Given the description of an element on the screen output the (x, y) to click on. 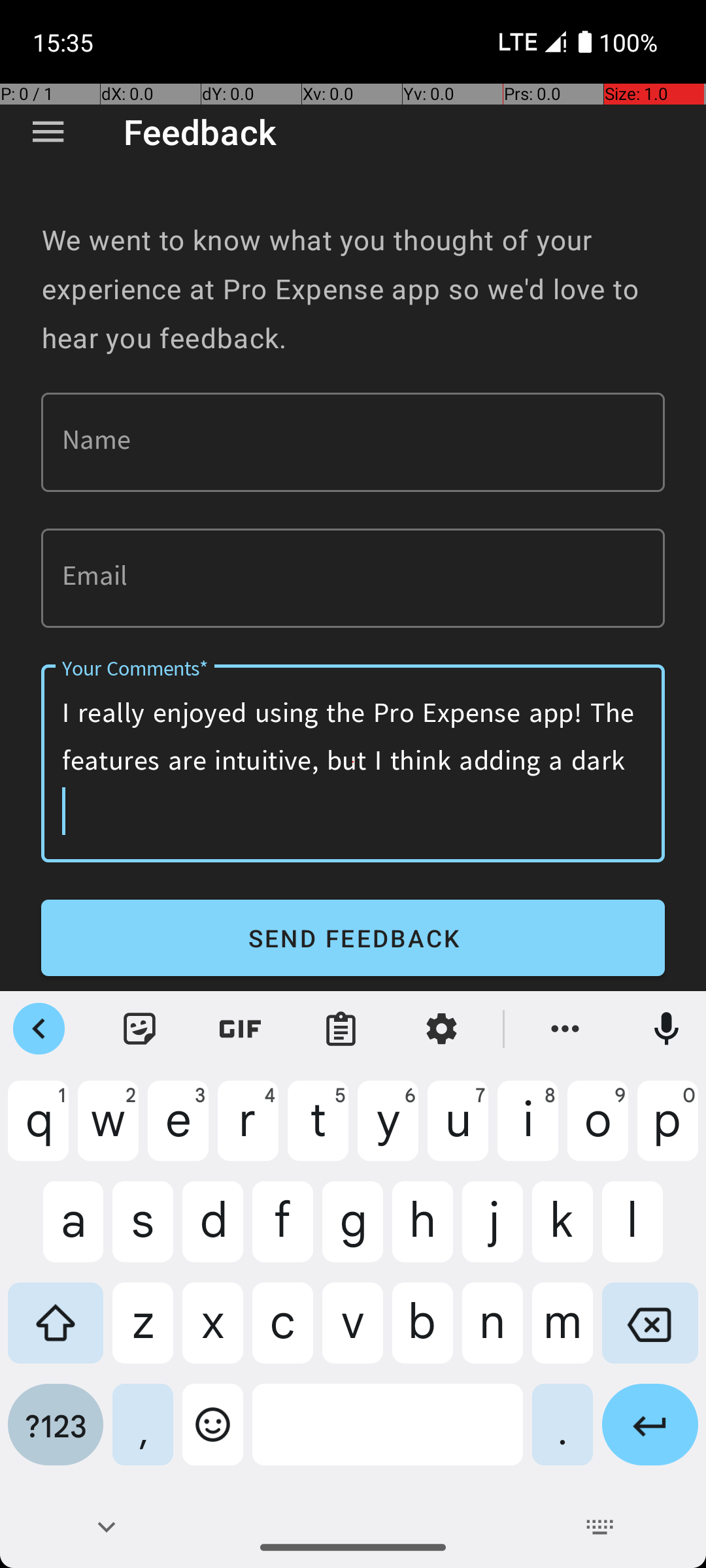
We went to know what you thought of your experience at Pro Expense app so we'd love to hear you feedback. Element type: android.widget.TextView (352, 288)
I really enjoyed using the Pro Expense app! The features are intuitive, but I think adding a dark
 Element type: android.widget.EditText (352, 763)
SEND FEEDBACK Element type: android.widget.Button (352, 937)
